Given the description of an element on the screen output the (x, y) to click on. 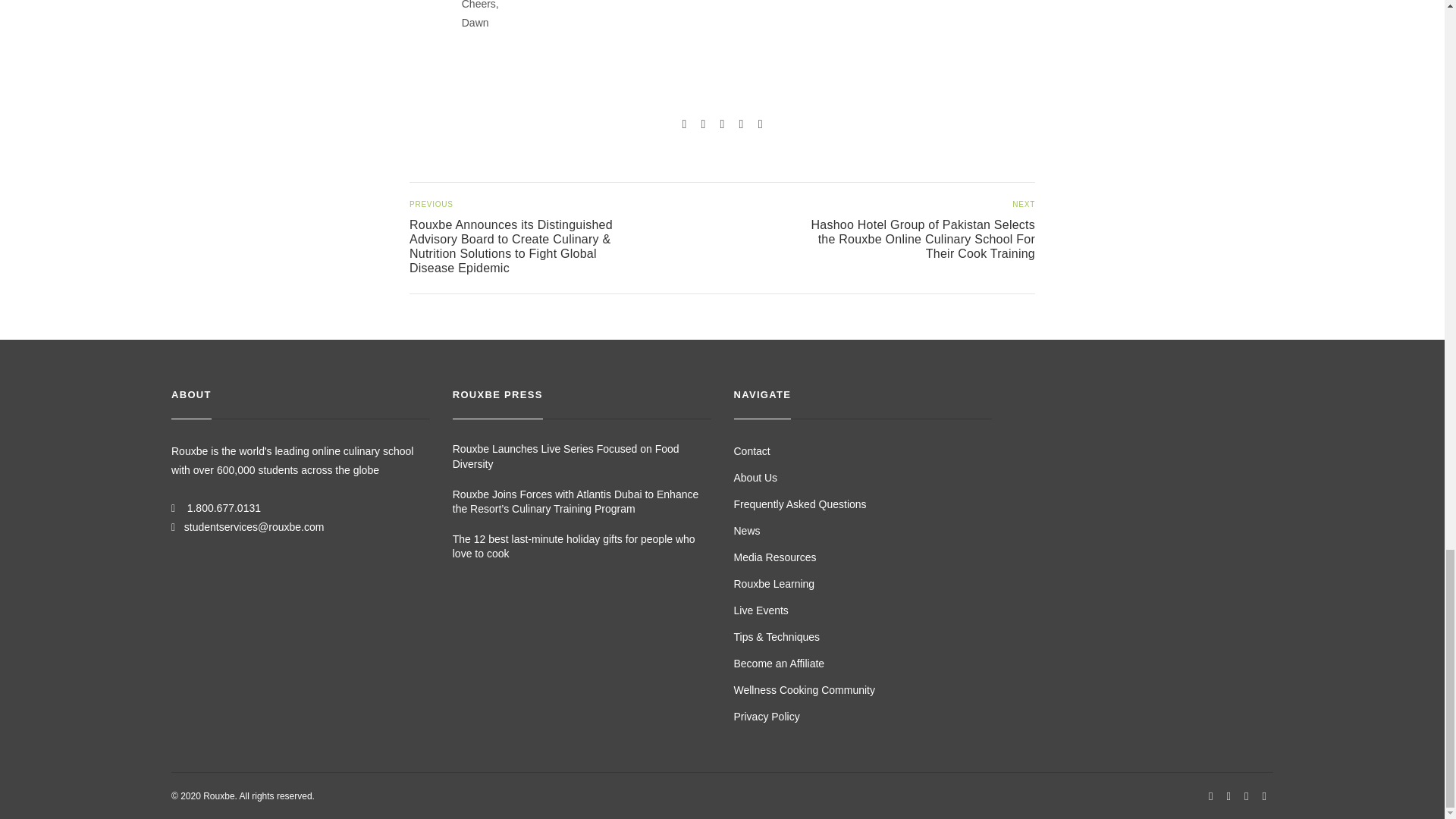
Contact (751, 451)
Rouxbe Launches Live Series Focused on Food Diversity (581, 456)
